Given the description of an element on the screen output the (x, y) to click on. 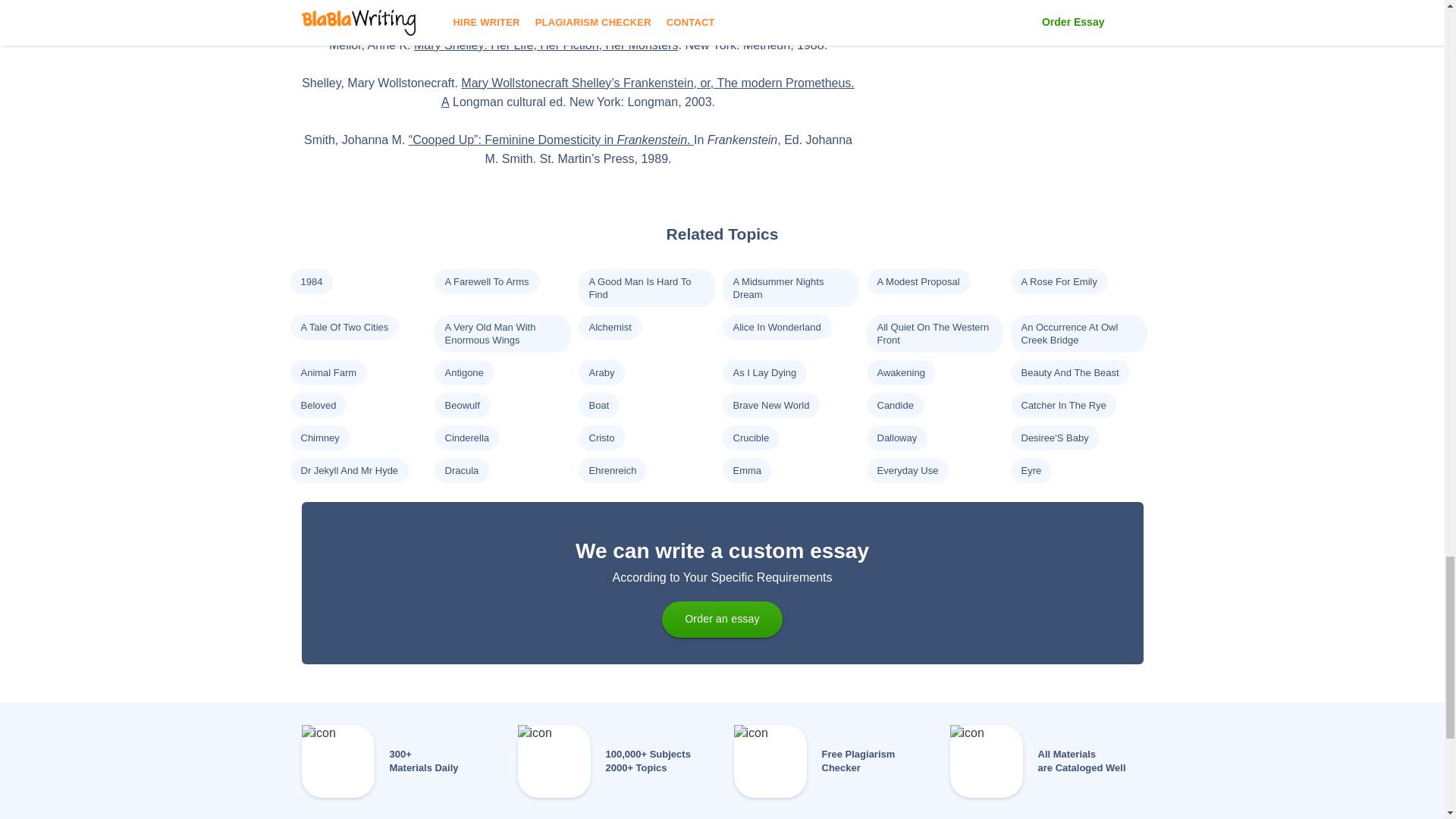
A Good Man Is Hard To Find (639, 288)
Alchemist (609, 326)
All Quiet On The Western Front (932, 333)
A Midsummer Nights Dream (778, 288)
A Rose For Emily (1058, 281)
A Very Old Man With Enormous Wings (489, 333)
An Occurrence At Owl Creek Bridge (1069, 333)
A Farewell To Arms (486, 281)
A Tale Of Two Cities (343, 326)
Alice In Wonderland (776, 326)
